Given the description of an element on the screen output the (x, y) to click on. 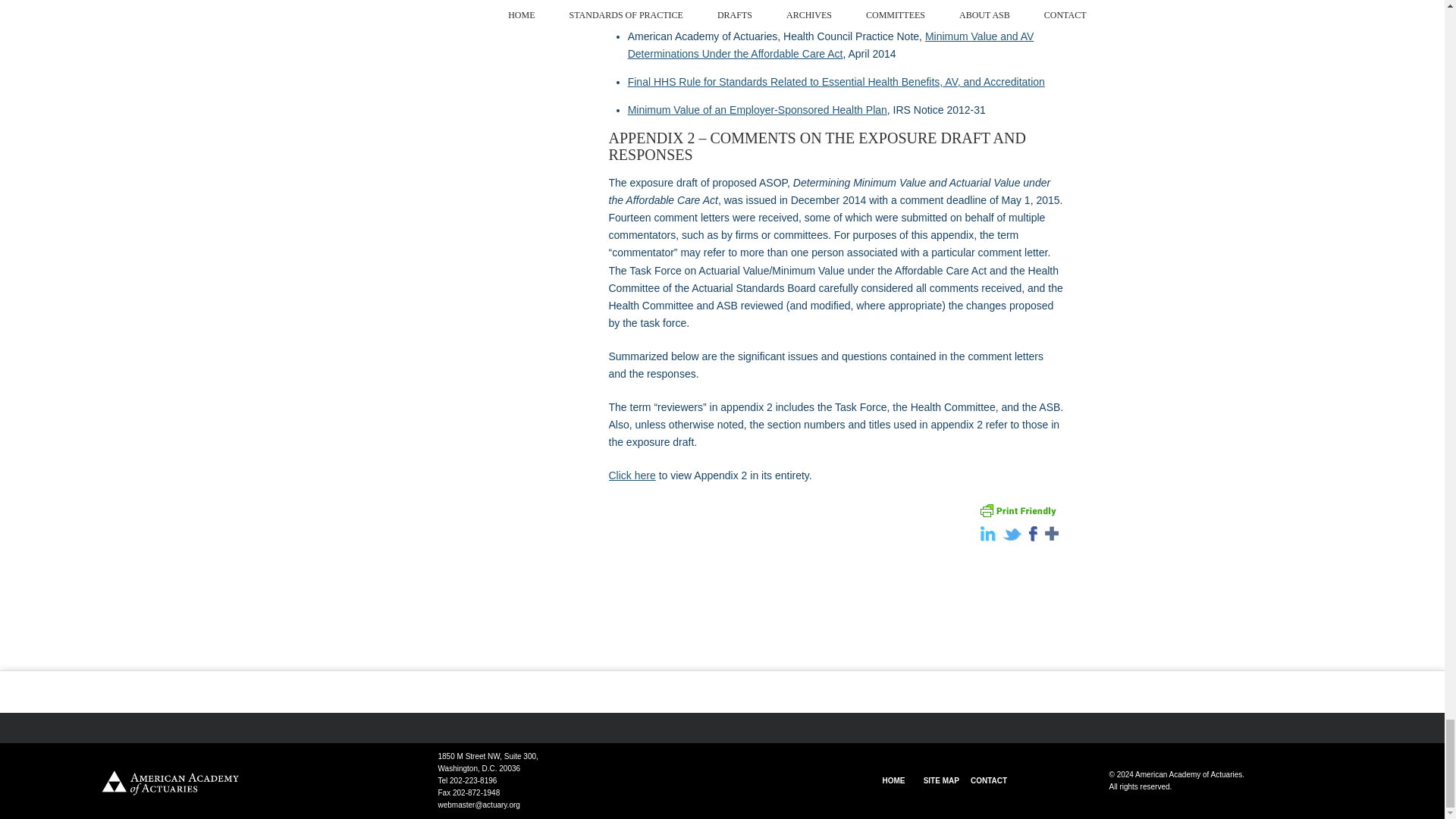
LinkedIn (983, 536)
Twitter (1007, 536)
